Given the description of an element on the screen output the (x, y) to click on. 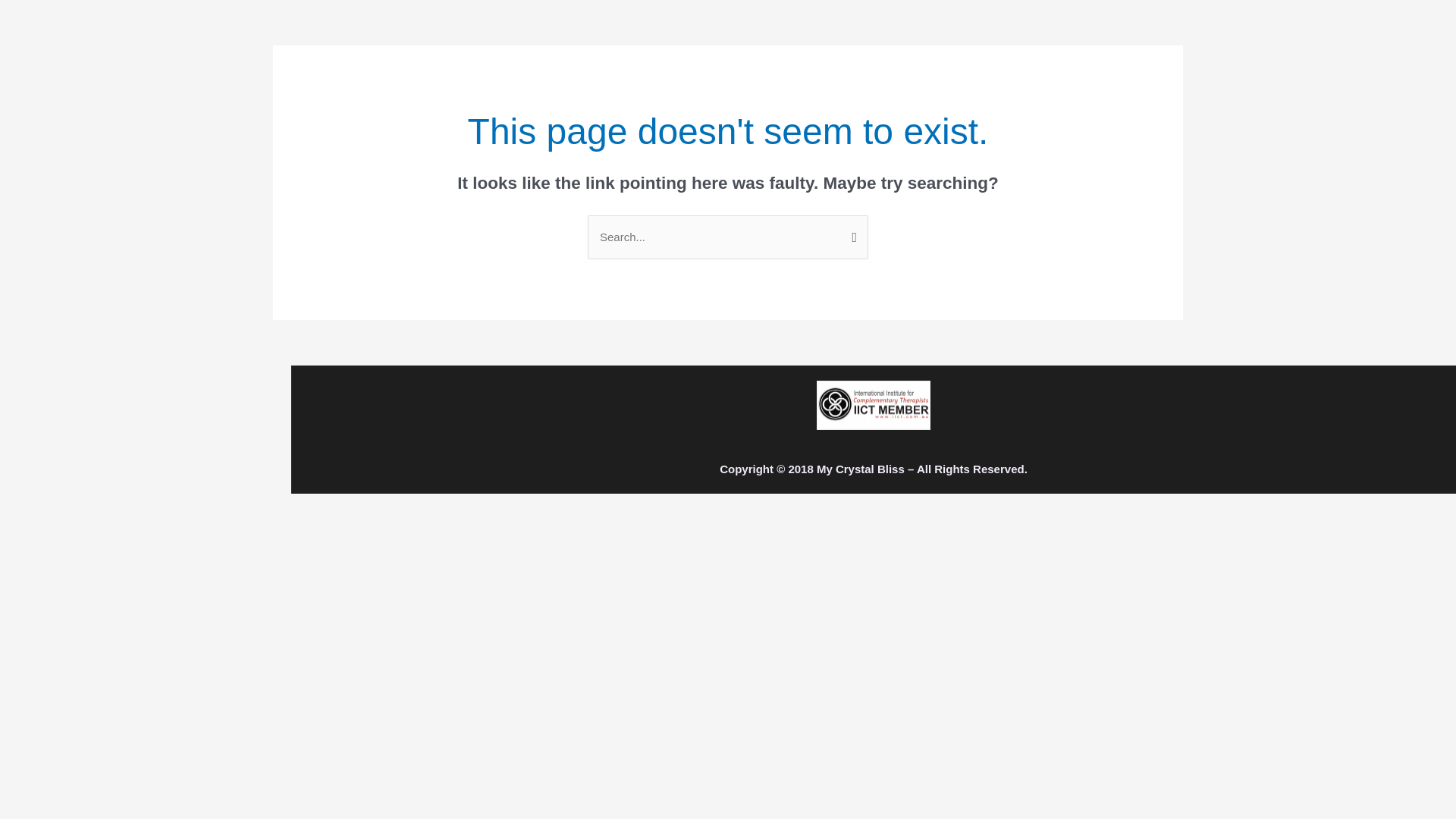
Search Element type: text (851, 235)
